Given the description of an element on the screen output the (x, y) to click on. 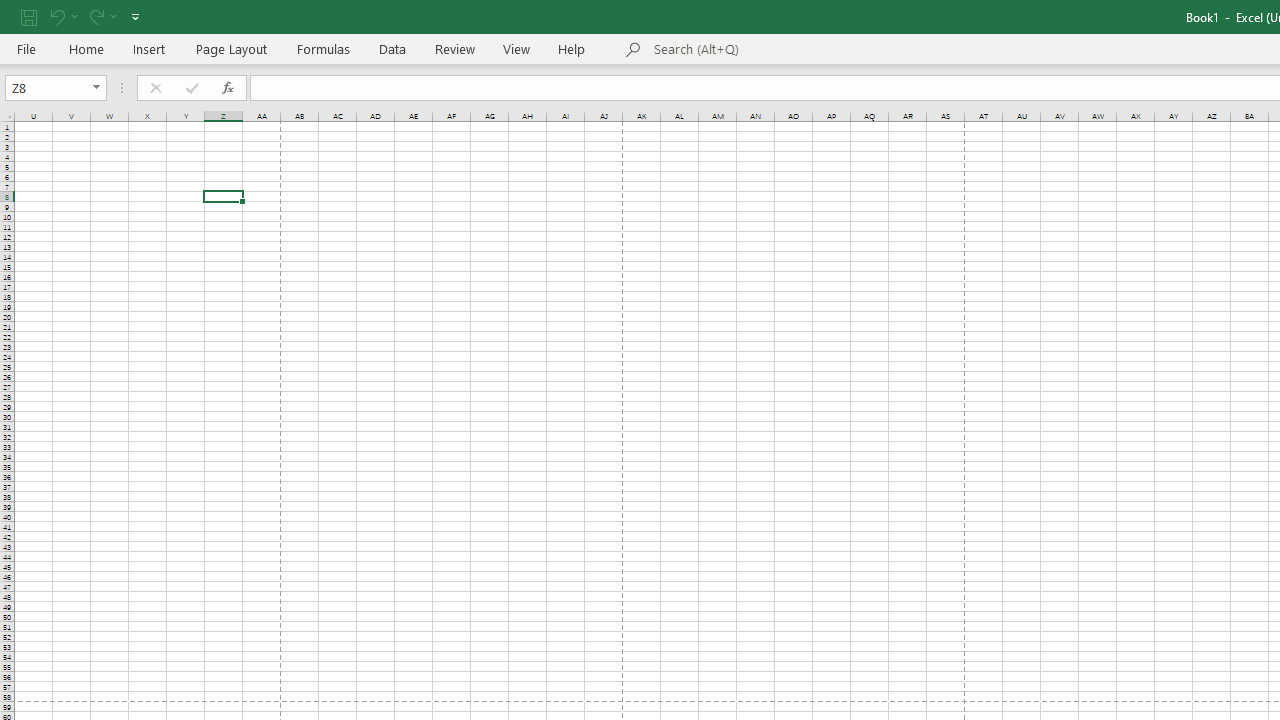
Microsoft search (792, 49)
